Given the description of an element on the screen output the (x, y) to click on. 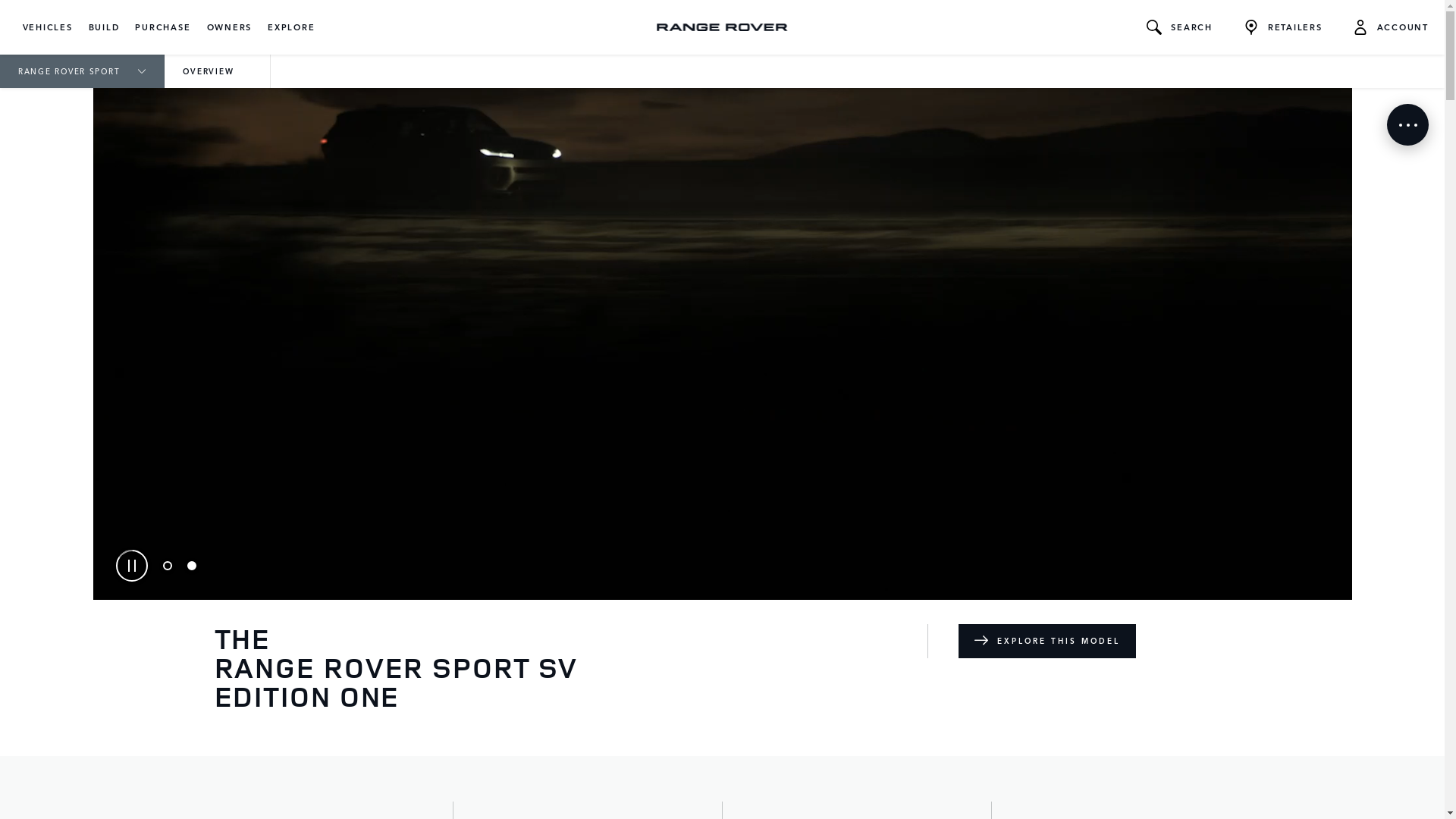
SEARCH Element type: text (1179, 27)
RETAILERS Element type: text (1282, 27)
VEHICLES Element type: text (47, 27)
BUILD Element type: text (104, 27)
EXPLORE THIS MODEL Element type: text (1046, 641)
RANGE ROVER SPORT Element type: text (82, 70)
PURCHASE Element type: text (162, 27)
EXPLORE Element type: text (291, 27)
ACCOUNT Element type: text (1390, 27)
OWNERS Element type: text (228, 27)
